Given the description of an element on the screen output the (x, y) to click on. 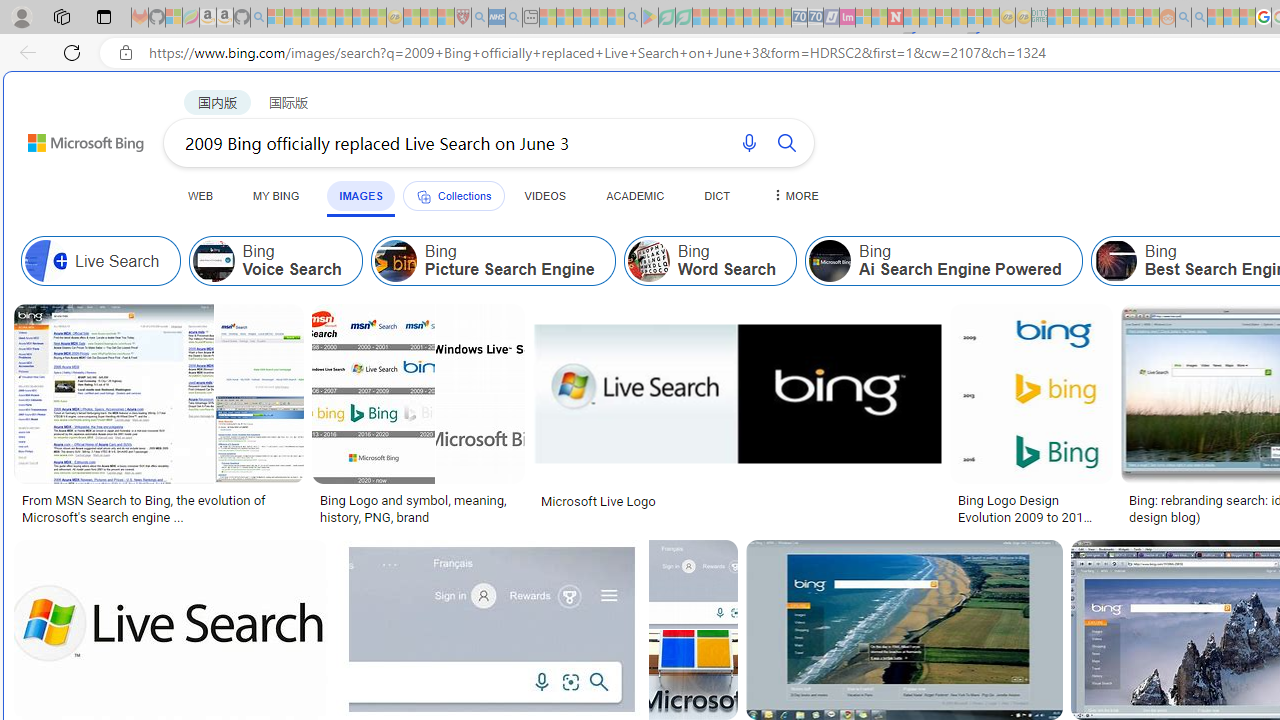
Kinda Frugal - MSN - Sleeping (1119, 17)
google - Search - Sleeping (632, 17)
Search using voice (748, 142)
